Given the description of an element on the screen output the (x, y) to click on. 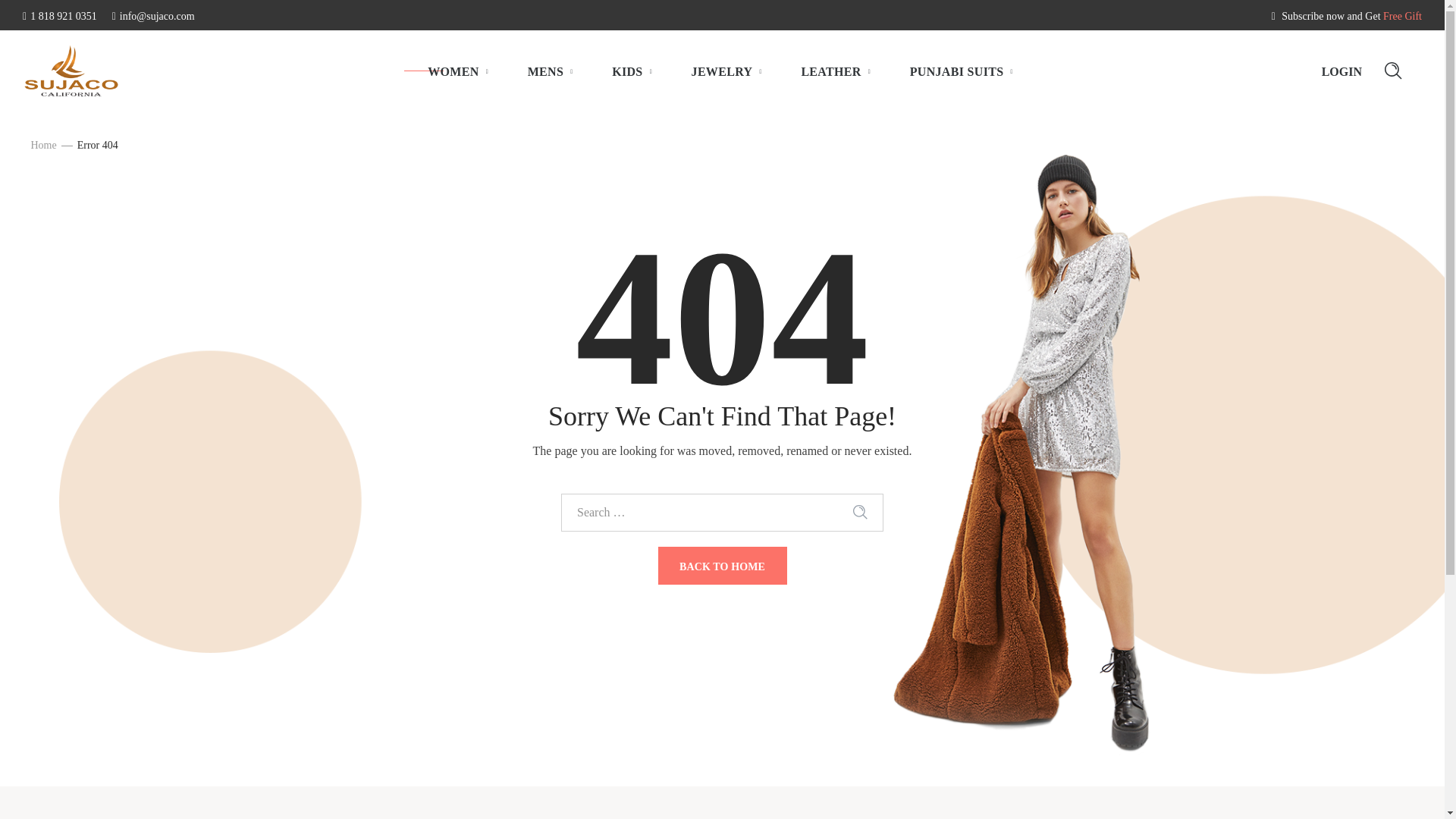
MENS (551, 71)
KIDS (631, 71)
1 818 921 0351 (60, 16)
WOMEN (458, 71)
JEWELRY (727, 71)
